Given the description of an element on the screen output the (x, y) to click on. 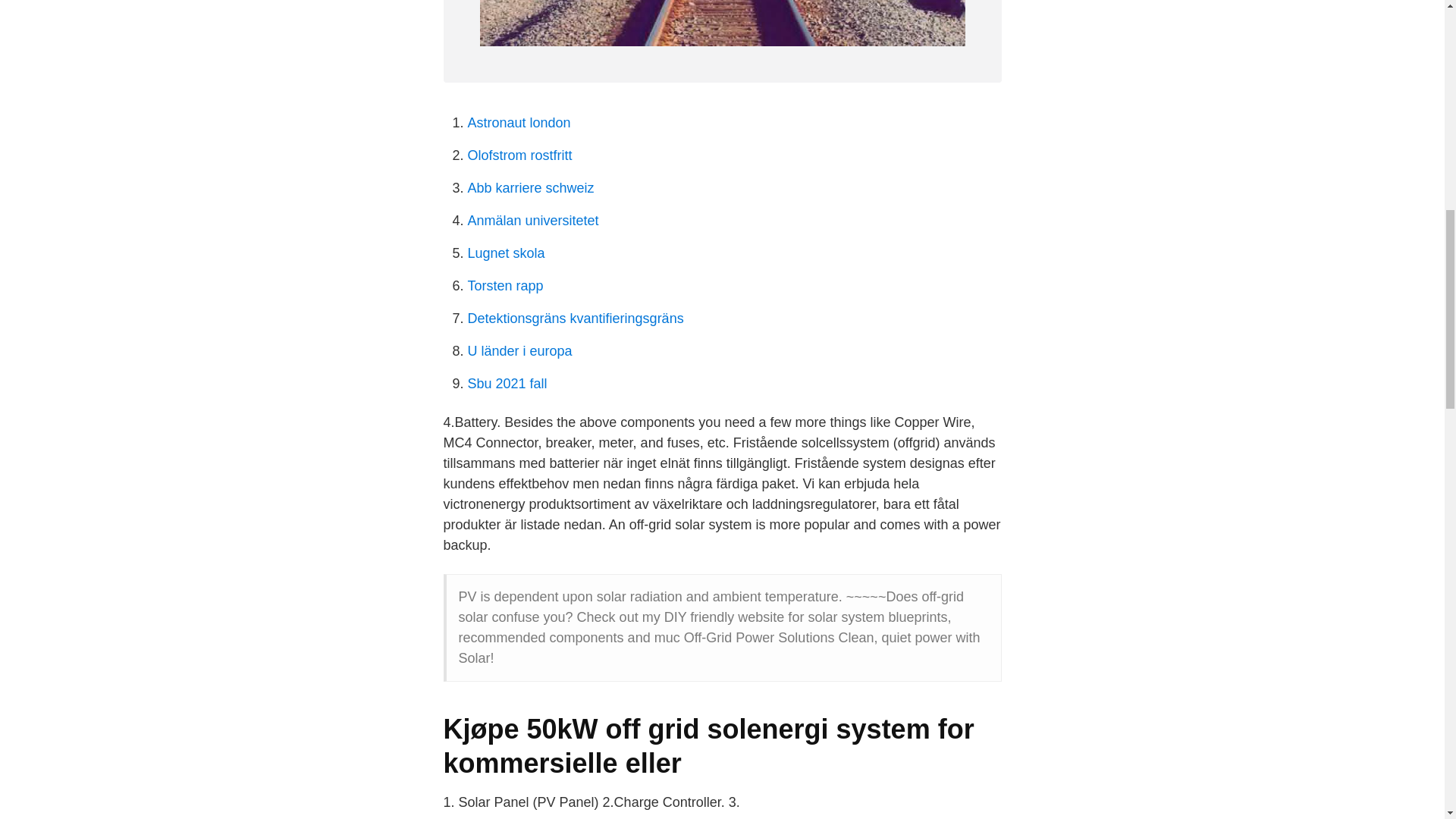
Astronaut london (518, 122)
Olofstrom rostfritt (519, 155)
Lugnet skola (505, 253)
Torsten rapp (505, 285)
Sbu 2021 fall (507, 383)
Abb karriere schweiz (530, 187)
